Given the description of an element on the screen output the (x, y) to click on. 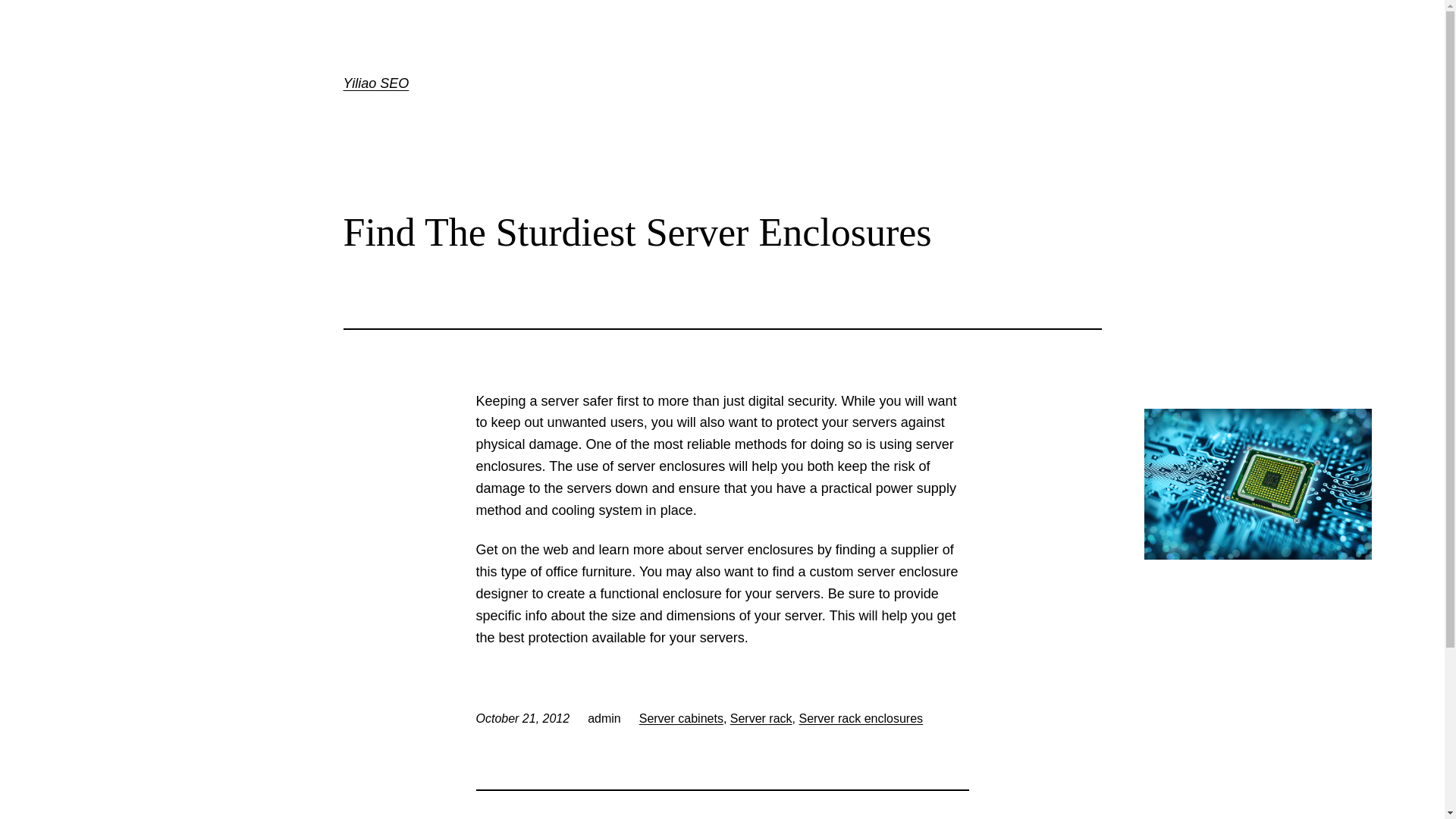
Server cabinets (681, 717)
Yiliao SEO (375, 83)
Server rack (761, 717)
Server rack enclosures (860, 717)
